Given the description of an element on the screen output the (x, y) to click on. 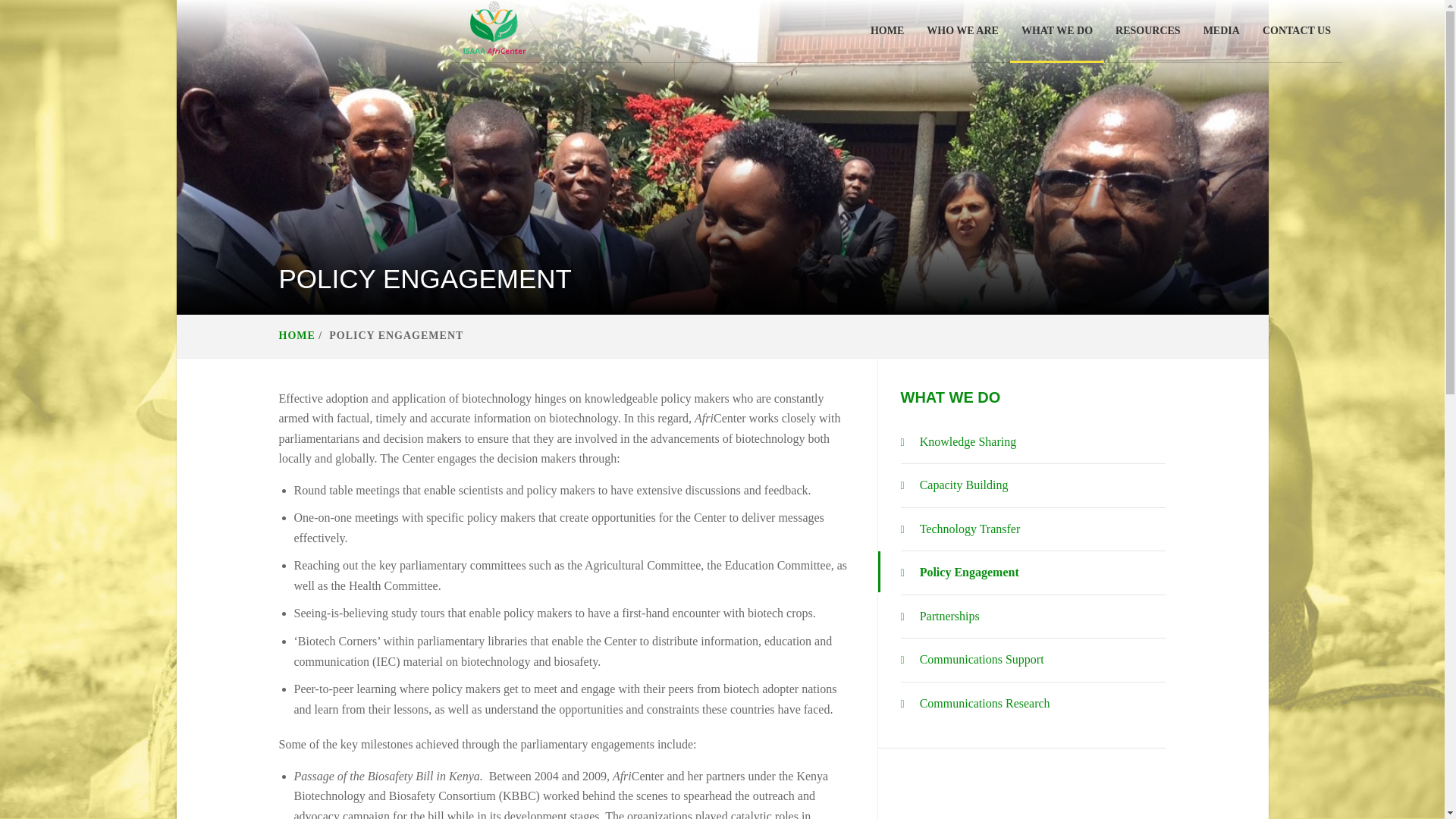
Policy Engagement (960, 572)
Knowledge Sharing (958, 442)
Technology Transfer (960, 529)
Communications Support (972, 659)
WHO WE ARE (962, 30)
HOME (887, 30)
HOME (297, 335)
Partnerships (940, 616)
Capacity Building (955, 485)
